Given the description of an element on the screen output the (x, y) to click on. 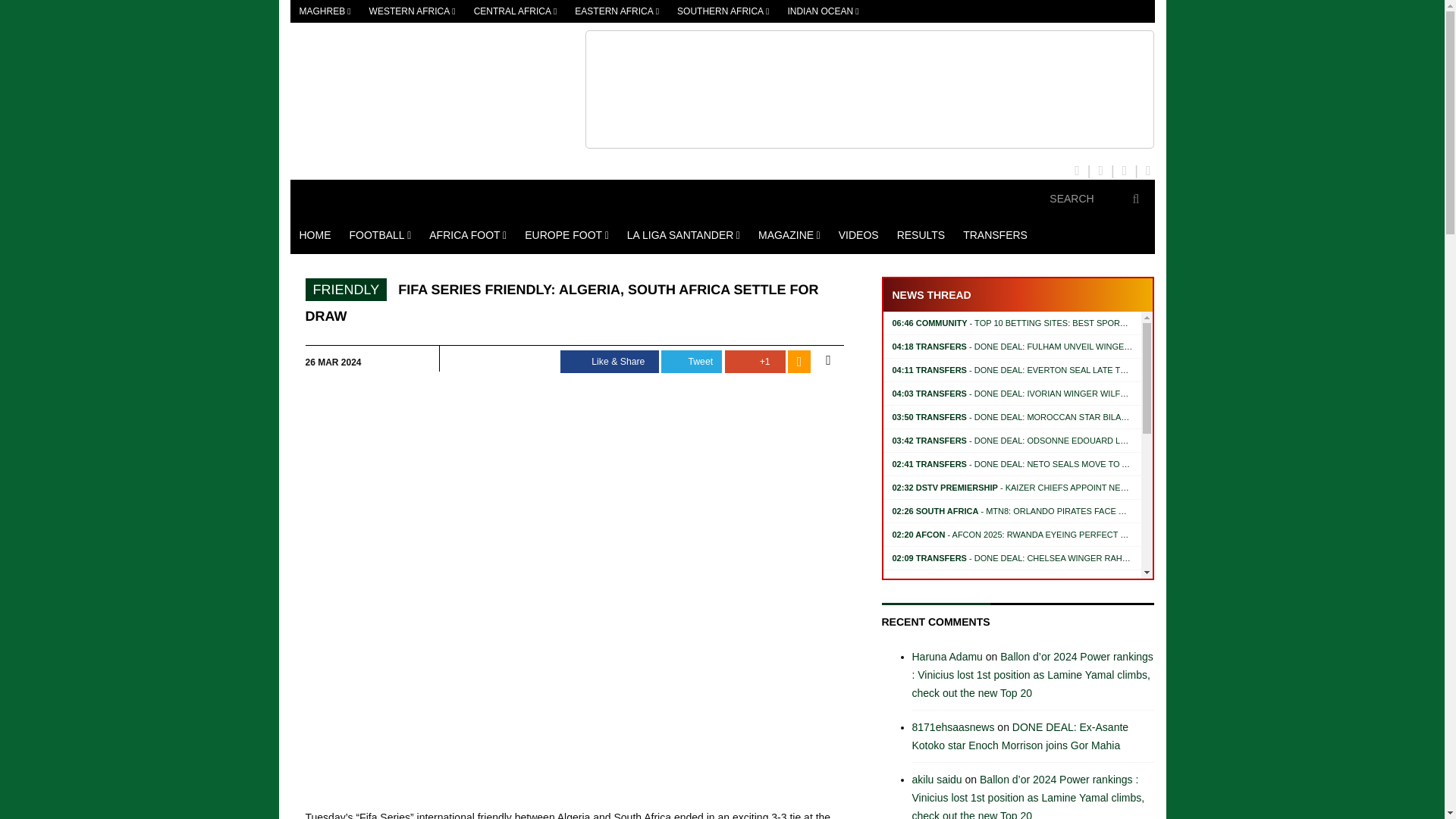
EASTERN AFRICA (617, 11)
Mail this (827, 360)
CENTRAL AFRICA (515, 11)
Share on Google Plus (755, 361)
1Xbet (869, 88)
WESTERN AFRICA (411, 11)
Top 10 Betting Sites: Best Sportsbooks Ranked (1043, 322)
DONE DEAL: Fulham unveil winger Reiss Nelson from Arsenal (1075, 346)
MAGHREB (324, 11)
Share on Twitter (691, 361)
